Given the description of an element on the screen output the (x, y) to click on. 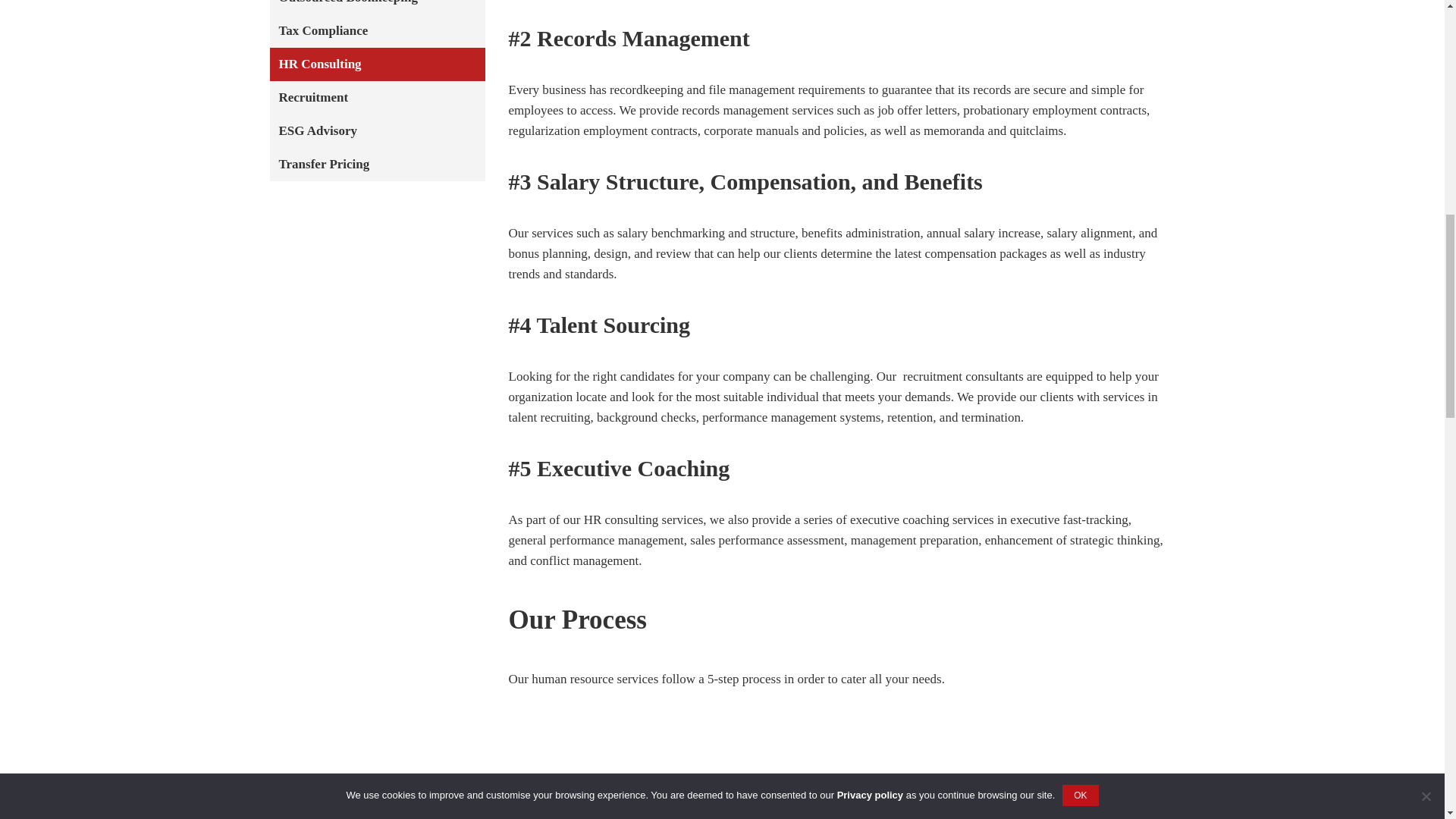
HRP-PROCESS-min (837, 760)
